Given the description of an element on the screen output the (x, y) to click on. 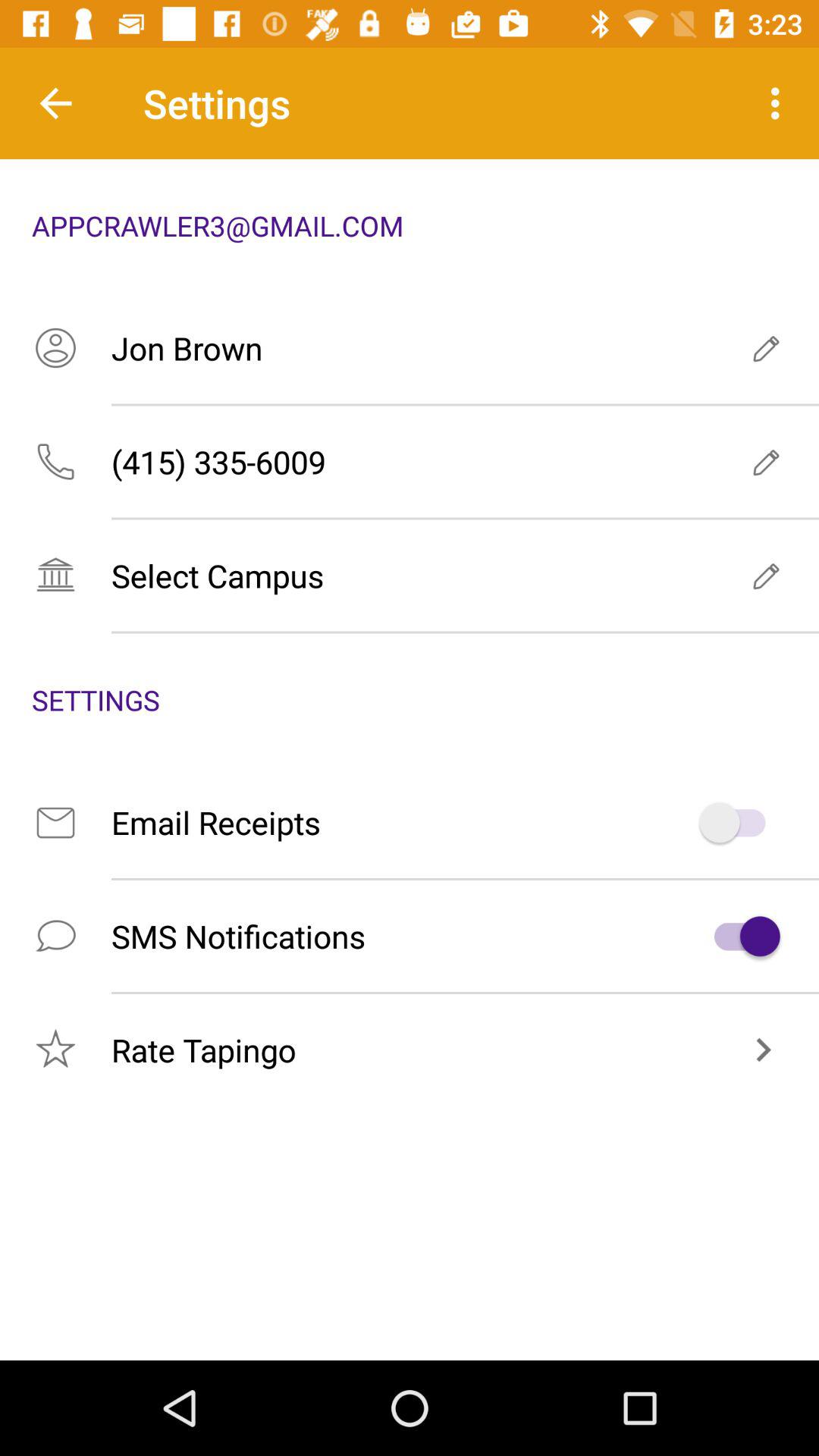
open item next to settings (779, 103)
